Given the description of an element on the screen output the (x, y) to click on. 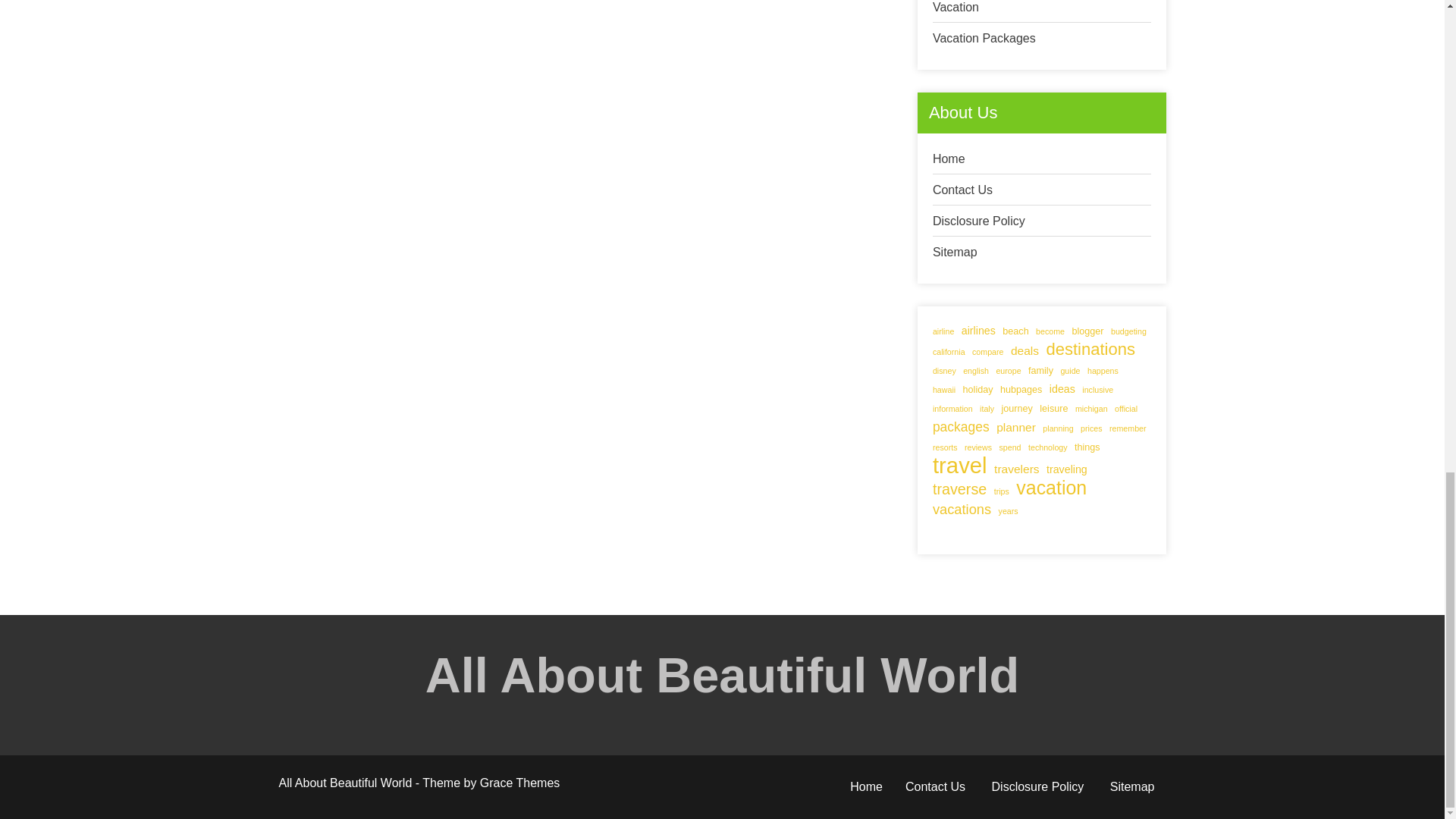
Vacation (955, 6)
Vacation Packages (984, 38)
